Given the description of an element on the screen output the (x, y) to click on. 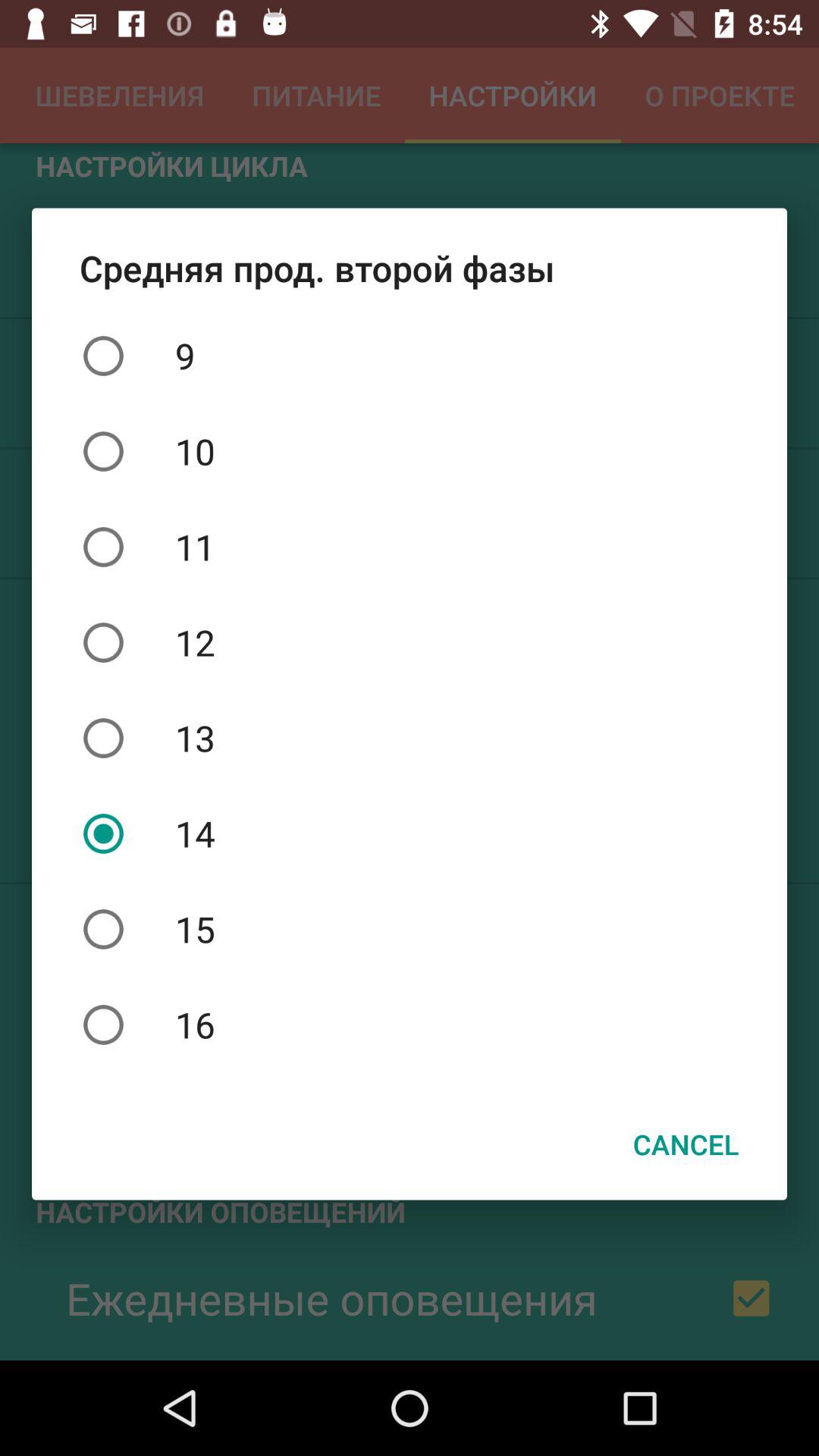
flip to the 10 item (409, 451)
